Given the description of an element on the screen output the (x, y) to click on. 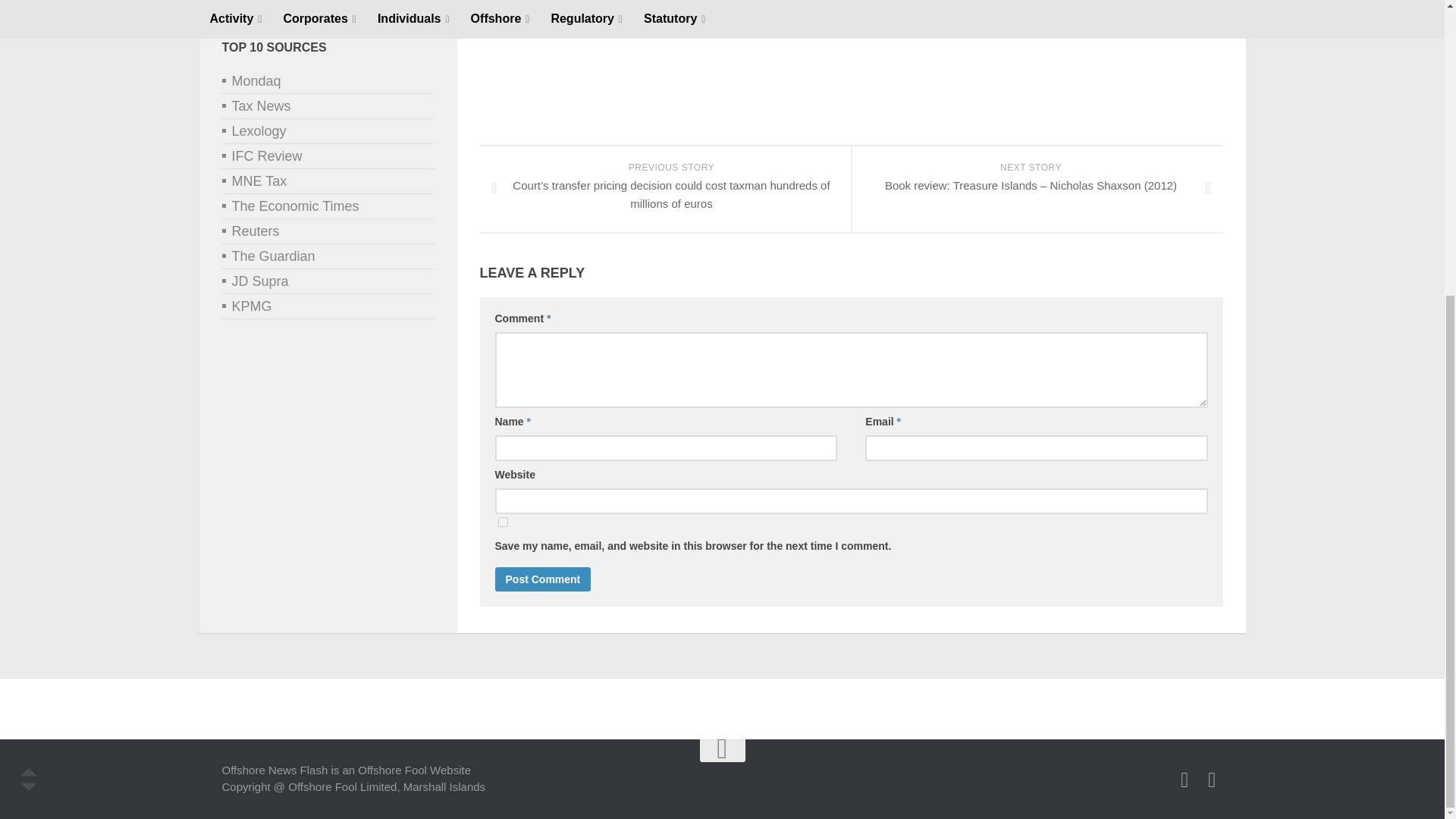
Twitter (1212, 780)
Post Comment (543, 579)
yes (501, 521)
Facebook (1184, 780)
